Given the description of an element on the screen output the (x, y) to click on. 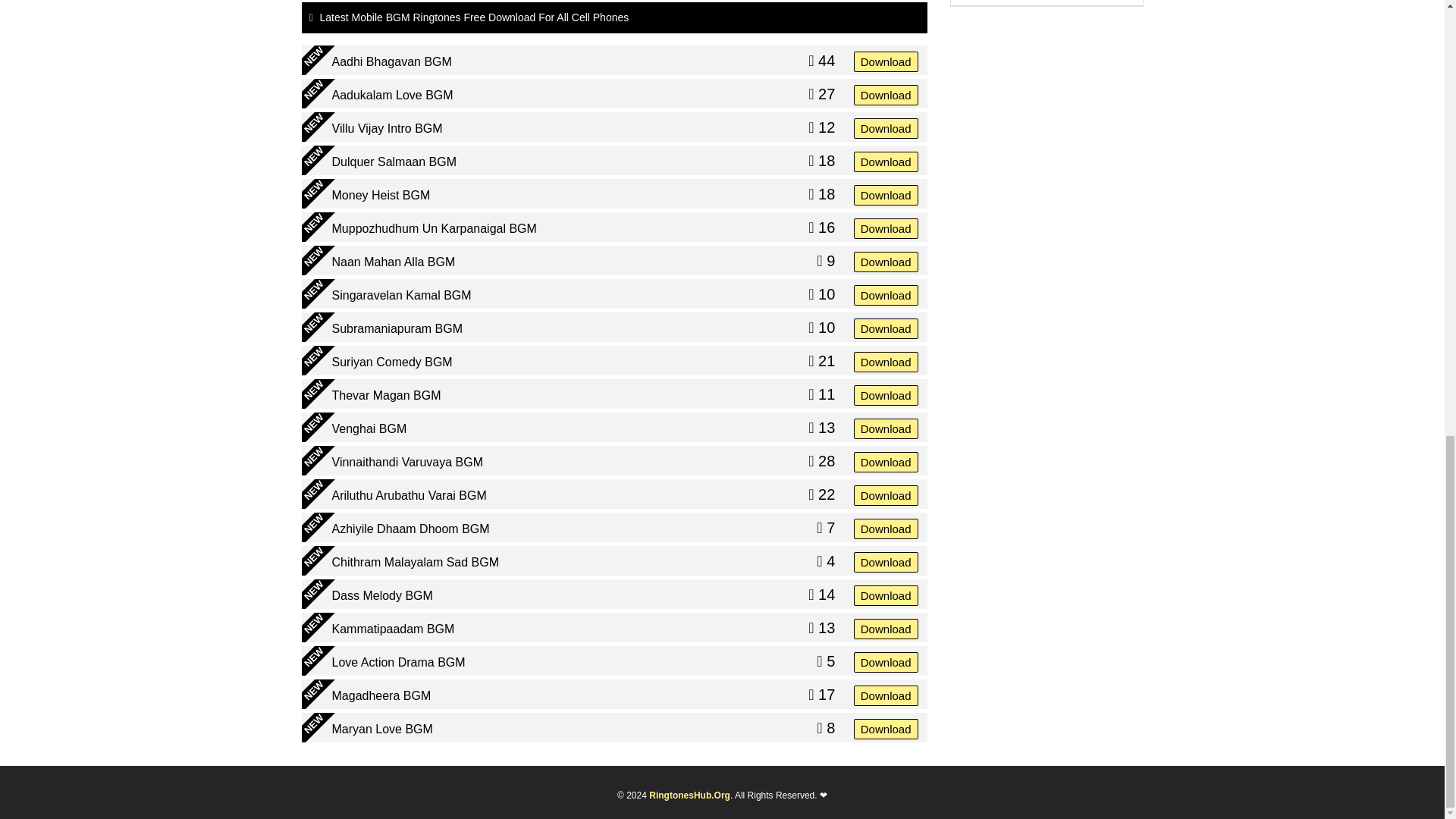
Dulquer Salmaan BGM (394, 162)
Villu Vijay Intro BGM (386, 128)
Download (885, 127)
Download (885, 94)
Aadhi Bhagavan BGM (391, 62)
Download (885, 60)
27 (821, 93)
44 (821, 60)
12 (821, 126)
Aadukalam Love BGM (391, 95)
